Given the description of an element on the screen output the (x, y) to click on. 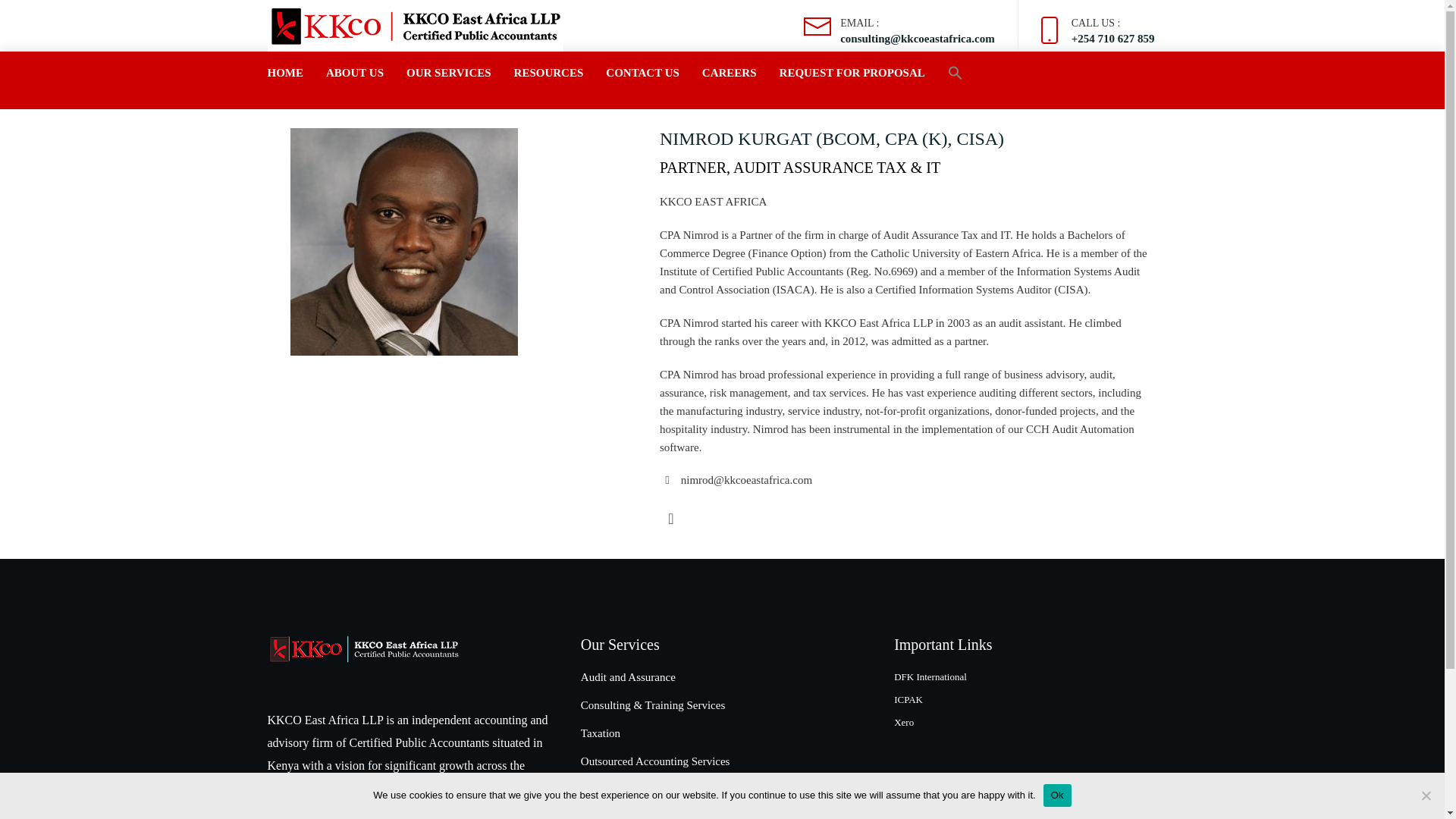
RESOURCES (548, 72)
OUR SERVICES (449, 72)
linkedin (670, 517)
No (1425, 795)
ABOUT US (355, 72)
